Given the description of an element on the screen output the (x, y) to click on. 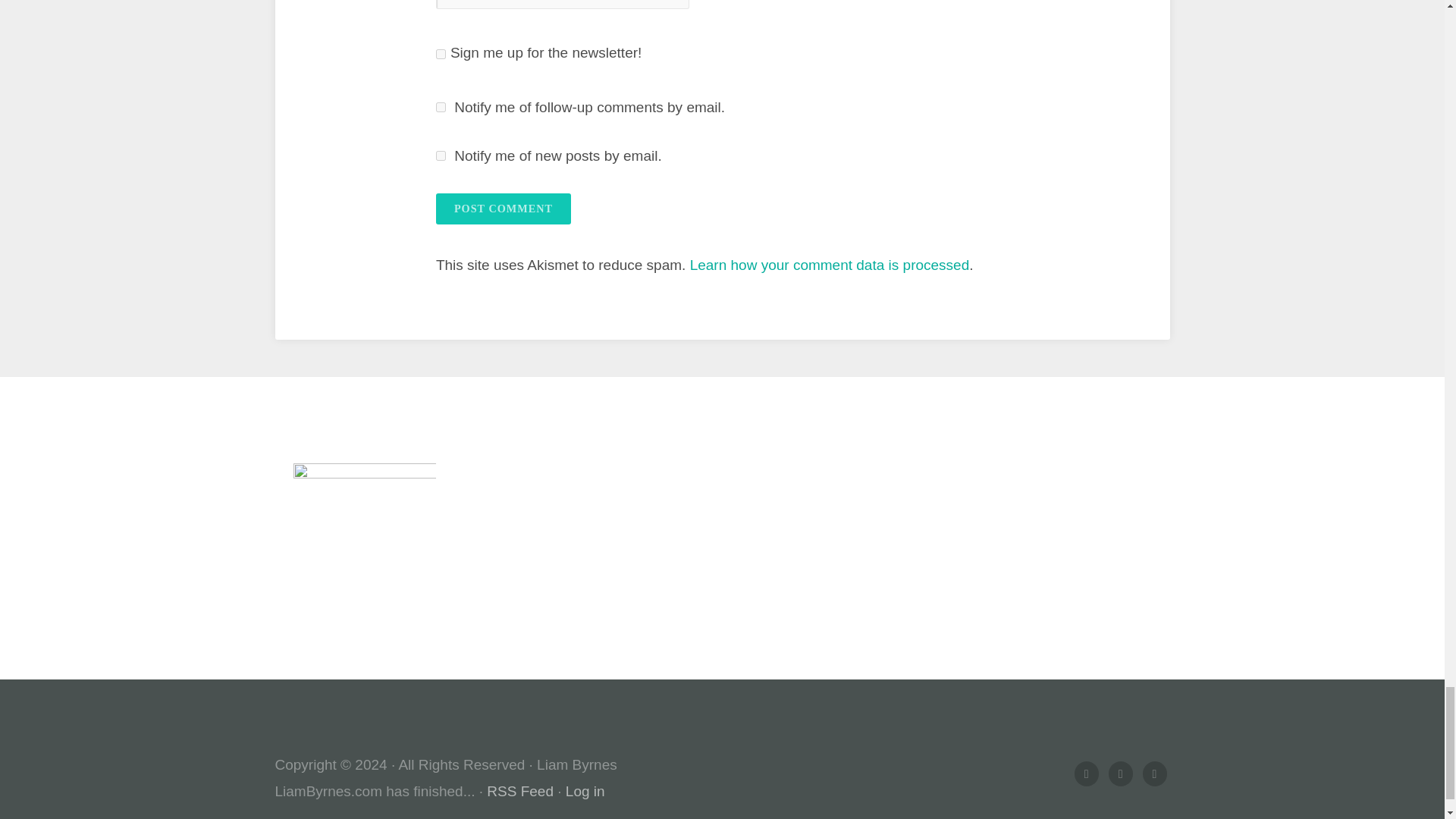
Post Comment (502, 208)
Log in (585, 790)
1 (440, 53)
subscribe (440, 155)
Post Comment (502, 208)
Learn how your comment data is processed (829, 264)
subscribe (440, 107)
RSS Feed (519, 790)
